Given the description of an element on the screen output the (x, y) to click on. 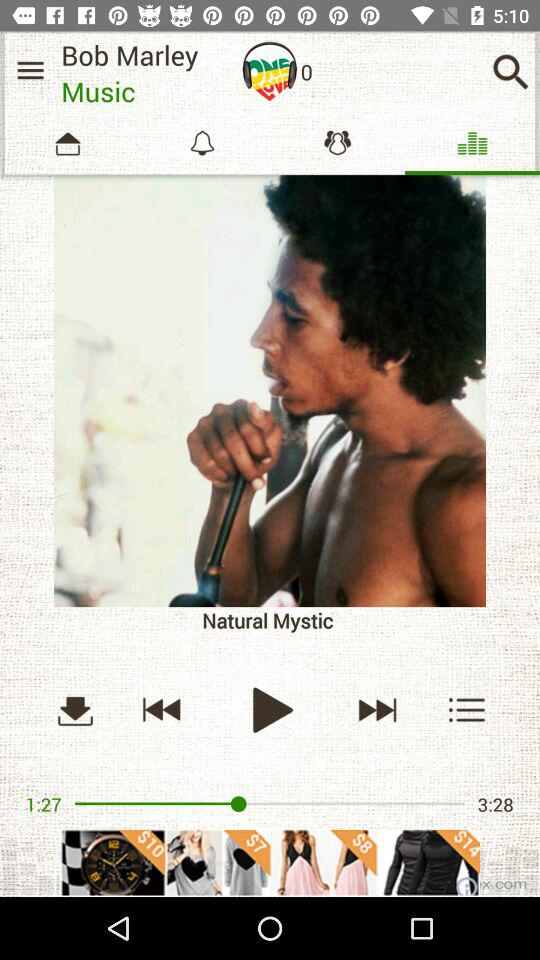
download (75, 709)
